Given the description of an element on the screen output the (x, y) to click on. 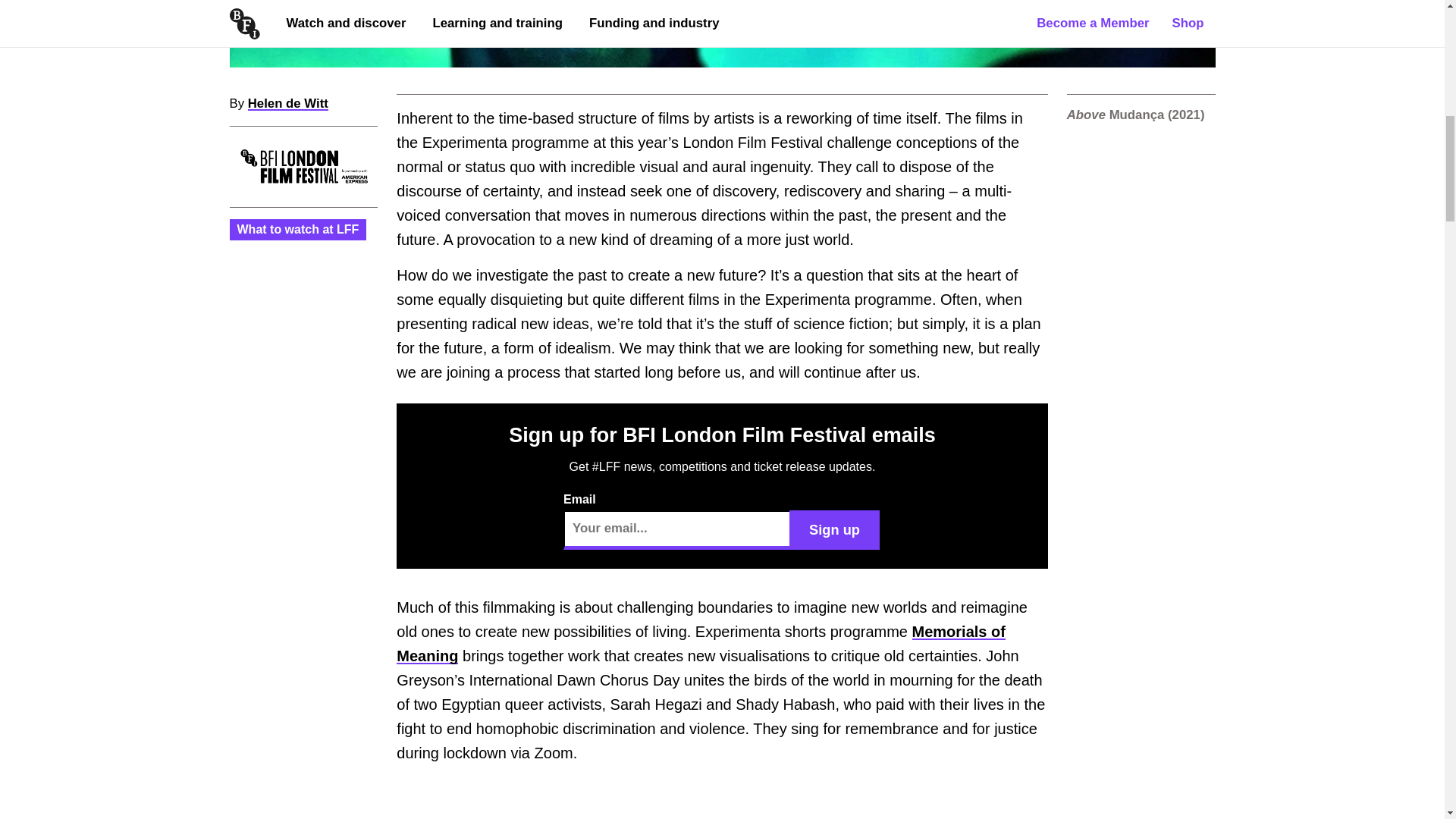
What to watch at LFF (296, 228)
Helen de Witt (288, 103)
Sign up (834, 529)
Memorials of Meaning (701, 643)
